Given the description of an element on the screen output the (x, y) to click on. 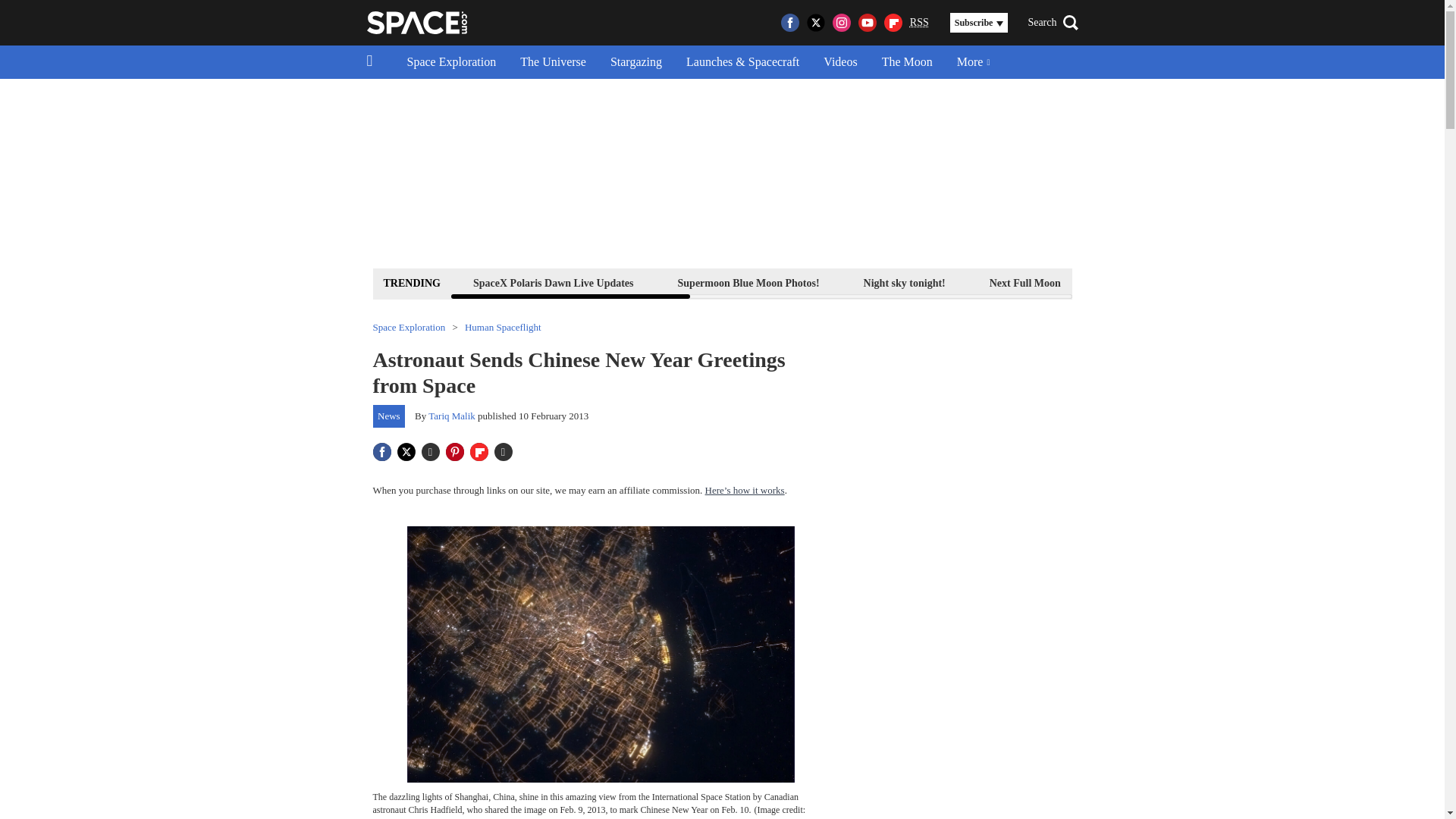
Really Simple Syndication (919, 21)
Videos (839, 61)
Stargazing (636, 61)
Next Full Moon (1024, 282)
Best Star Projectors (1378, 282)
Best Binoculars (1253, 282)
Space Exploration (451, 61)
The Universe (553, 61)
RSS (919, 22)
The Moon (906, 61)
